Given the description of an element on the screen output the (x, y) to click on. 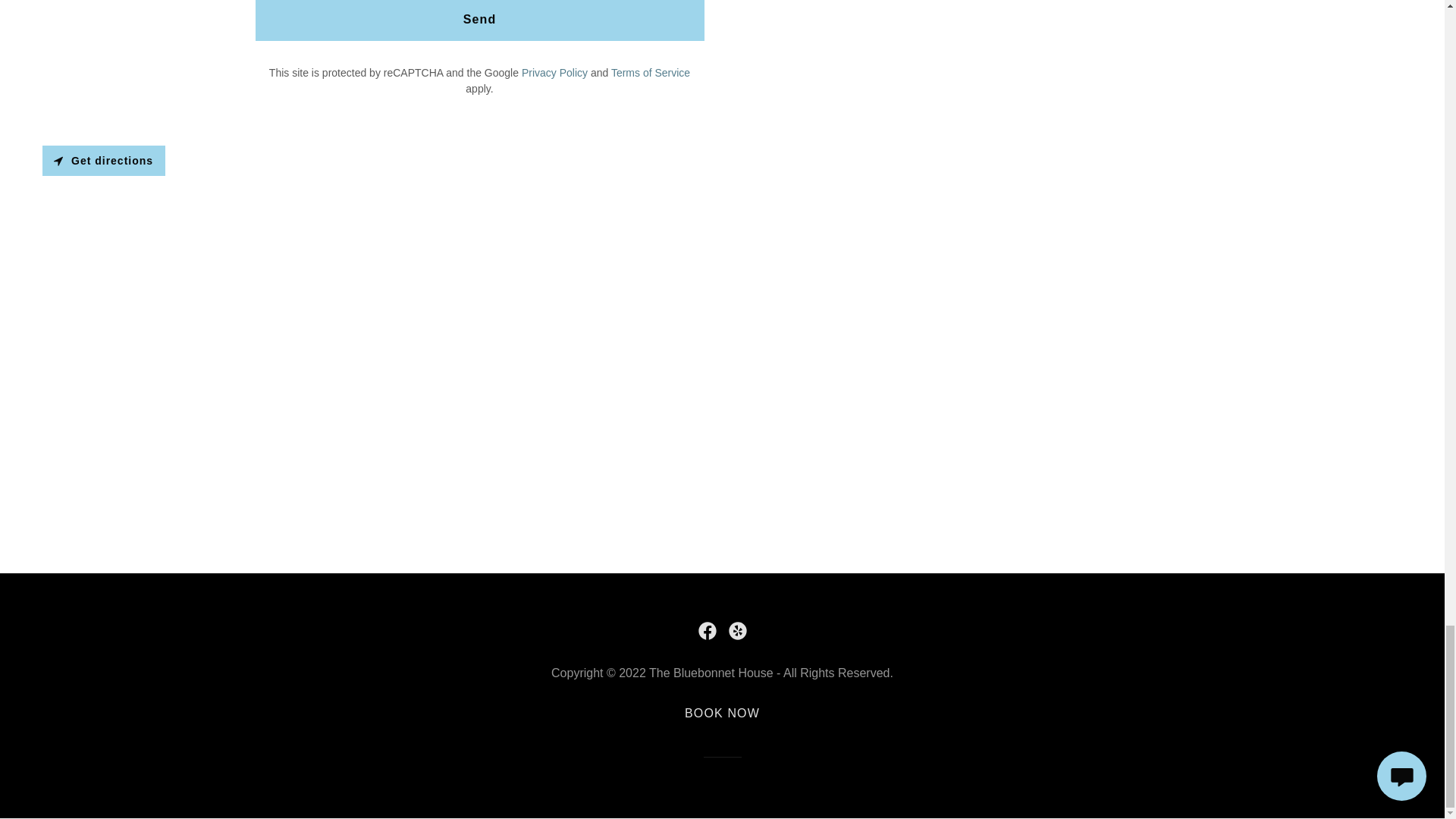
Privacy Policy (554, 72)
Get directions (103, 160)
BOOK NOW (721, 713)
Send (478, 20)
Terms of Service (650, 72)
